Given the description of an element on the screen output the (x, y) to click on. 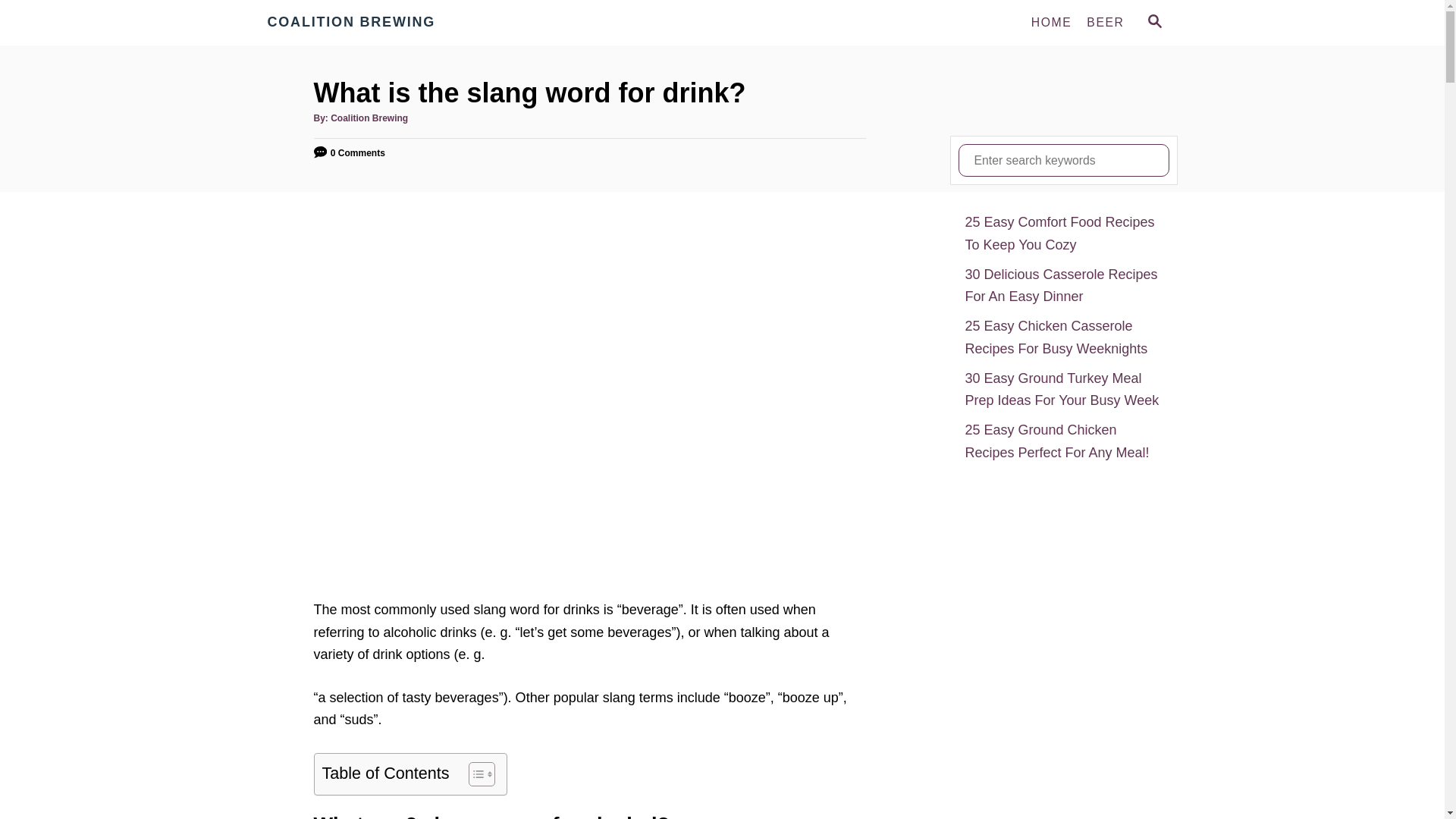
30 Easy Ground Turkey Meal Prep Ideas For Your Busy Week (1062, 389)
Search (22, 22)
Coalition Brewing (368, 118)
25 Easy Chicken Casserole Recipes For Busy Weeknights (1062, 337)
HOME (1051, 22)
Coalition Brewing (403, 22)
25 Easy Ground Chicken Recipes Perfect For Any Meal! (1062, 441)
25 Easy Comfort Food Recipes To Keep You Cozy (1062, 234)
SEARCH (1153, 22)
